Given the description of an element on the screen output the (x, y) to click on. 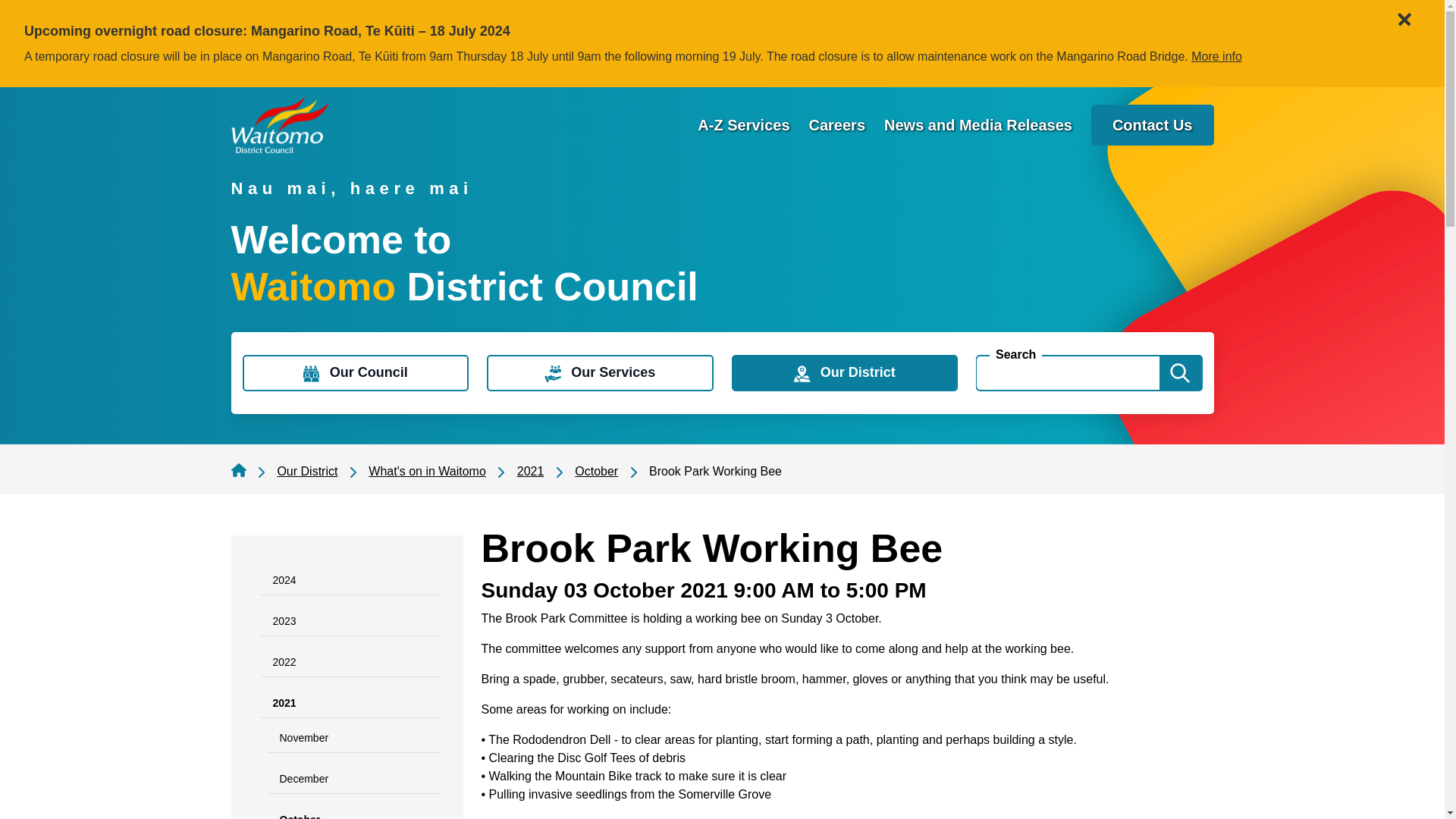
Home (278, 123)
A-Z Services (743, 124)
Open Notification (1401, 12)
News and Media Releases (977, 124)
Contact Us (1152, 124)
Our Services (599, 372)
More info (1216, 56)
Careers (837, 124)
Our Council (355, 372)
